Given the description of an element on the screen output the (x, y) to click on. 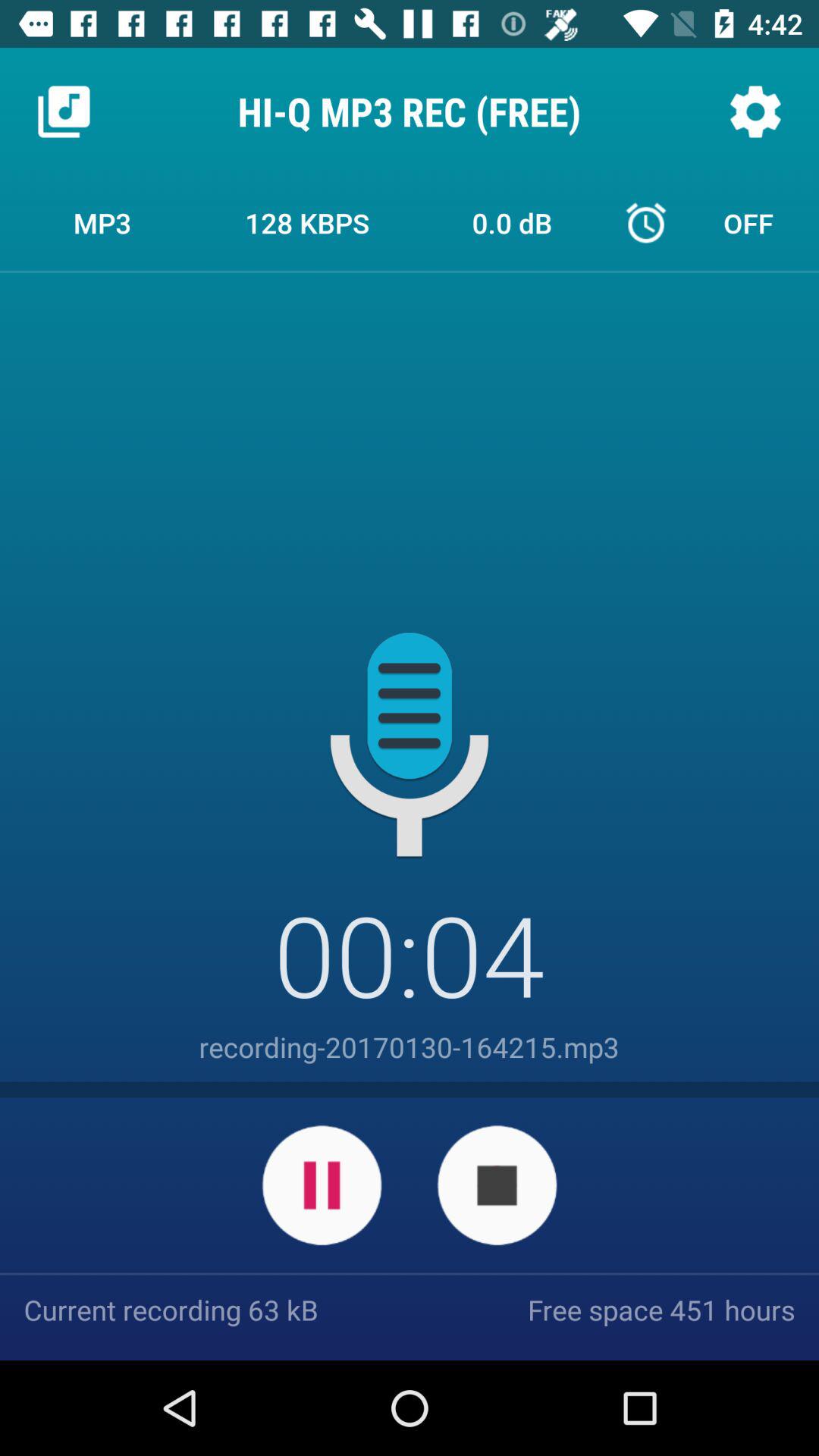
turn off item next to hi q mp3 icon (755, 111)
